Given the description of an element on the screen output the (x, y) to click on. 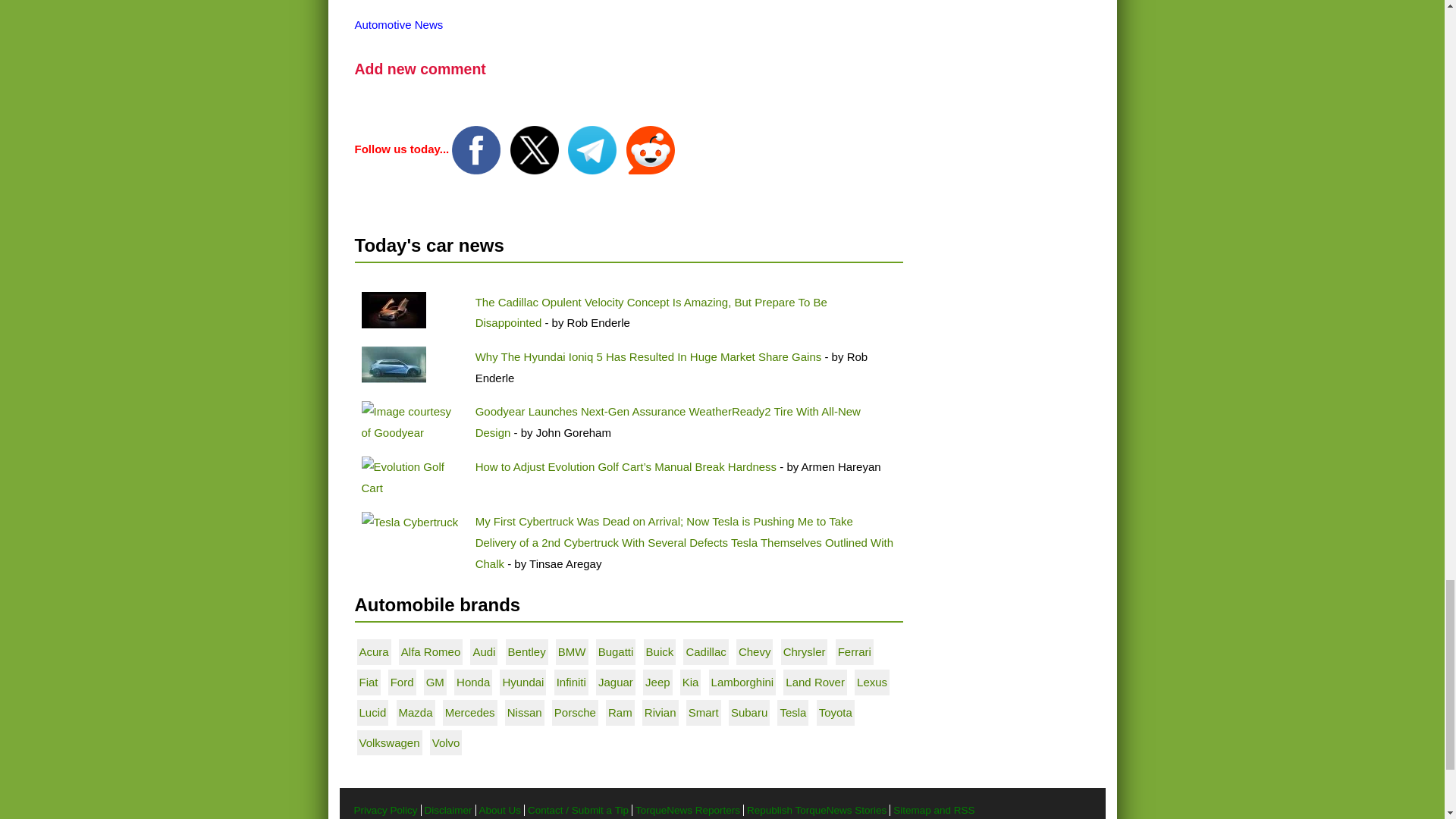
Join us on Telegram! (593, 148)
Join us on Reddit! (650, 148)
Audi (483, 651)
Acura (373, 651)
Bentley (527, 651)
Image courtesy of Goodyear (411, 422)
Add new comment (420, 68)
